Given the description of an element on the screen output the (x, y) to click on. 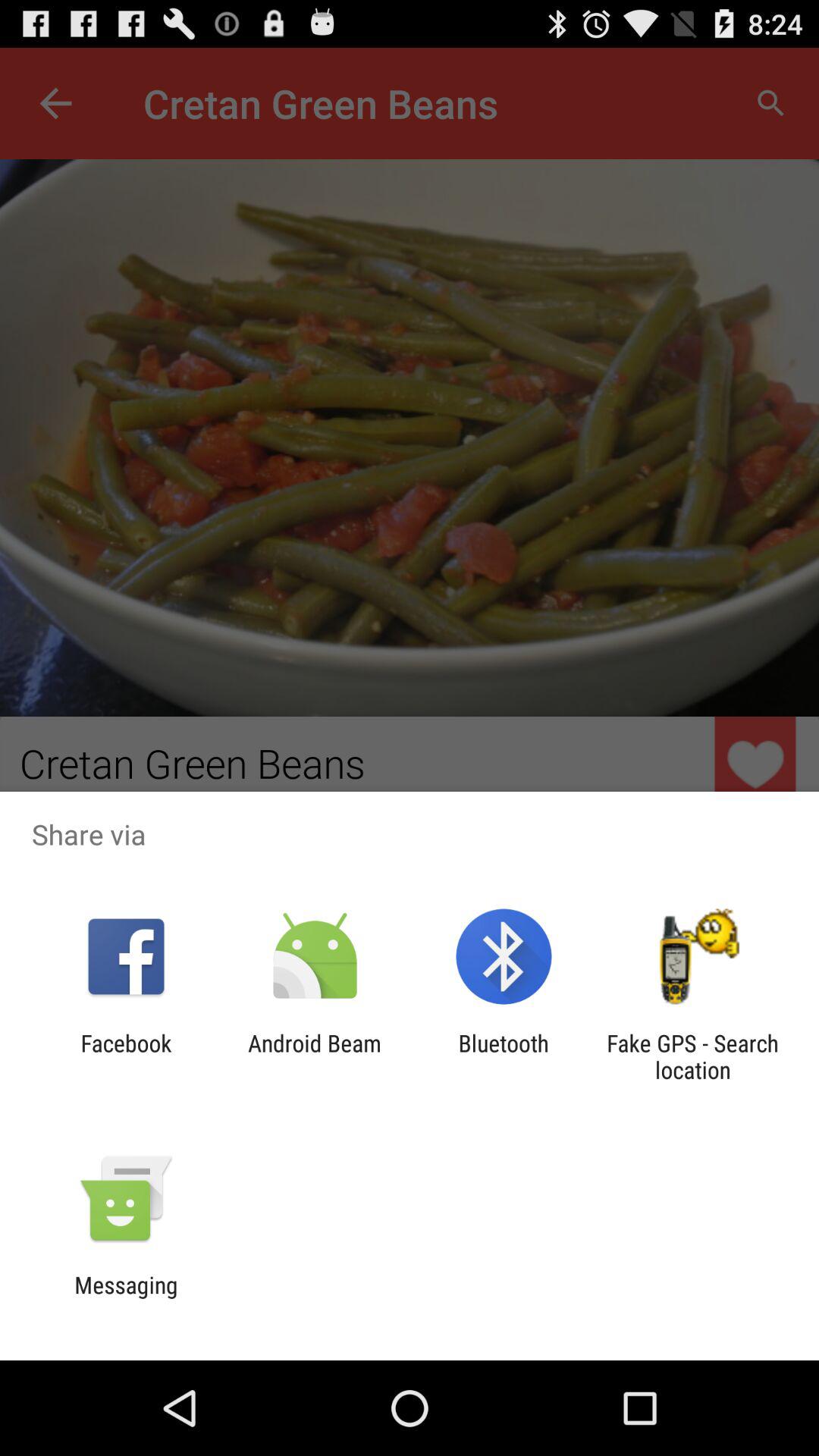
choose the icon next to the bluetooth (692, 1056)
